Given the description of an element on the screen output the (x, y) to click on. 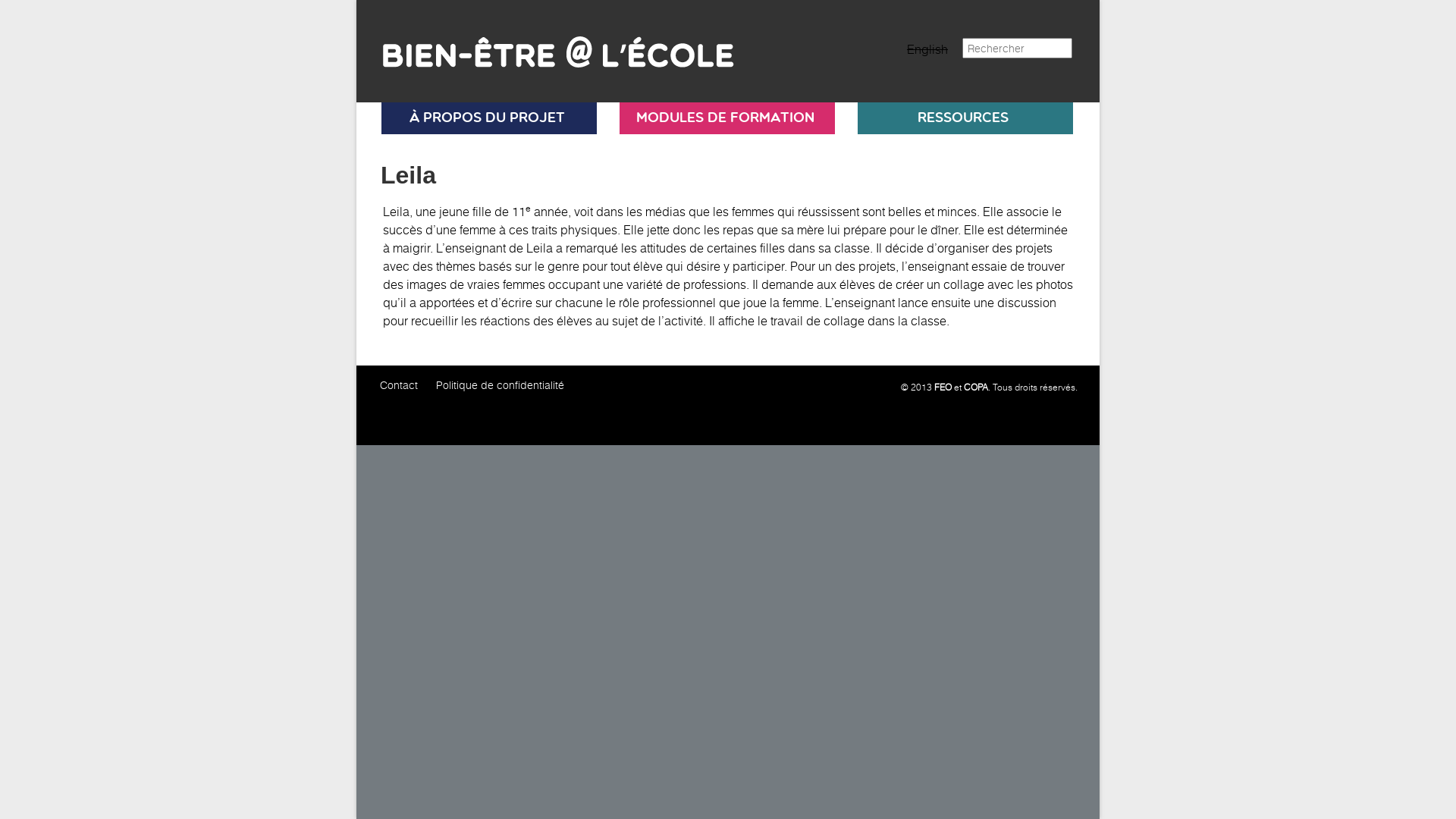
Contact Element type: text (398, 384)
Modules de formation Element type: text (724, 118)
Ressources Element type: text (962, 118)
Accueil Element type: hover (549, 45)
Recherche Element type: text (36, 9)
Skip to main Element type: text (356, 0)
